Given the description of an element on the screen output the (x, y) to click on. 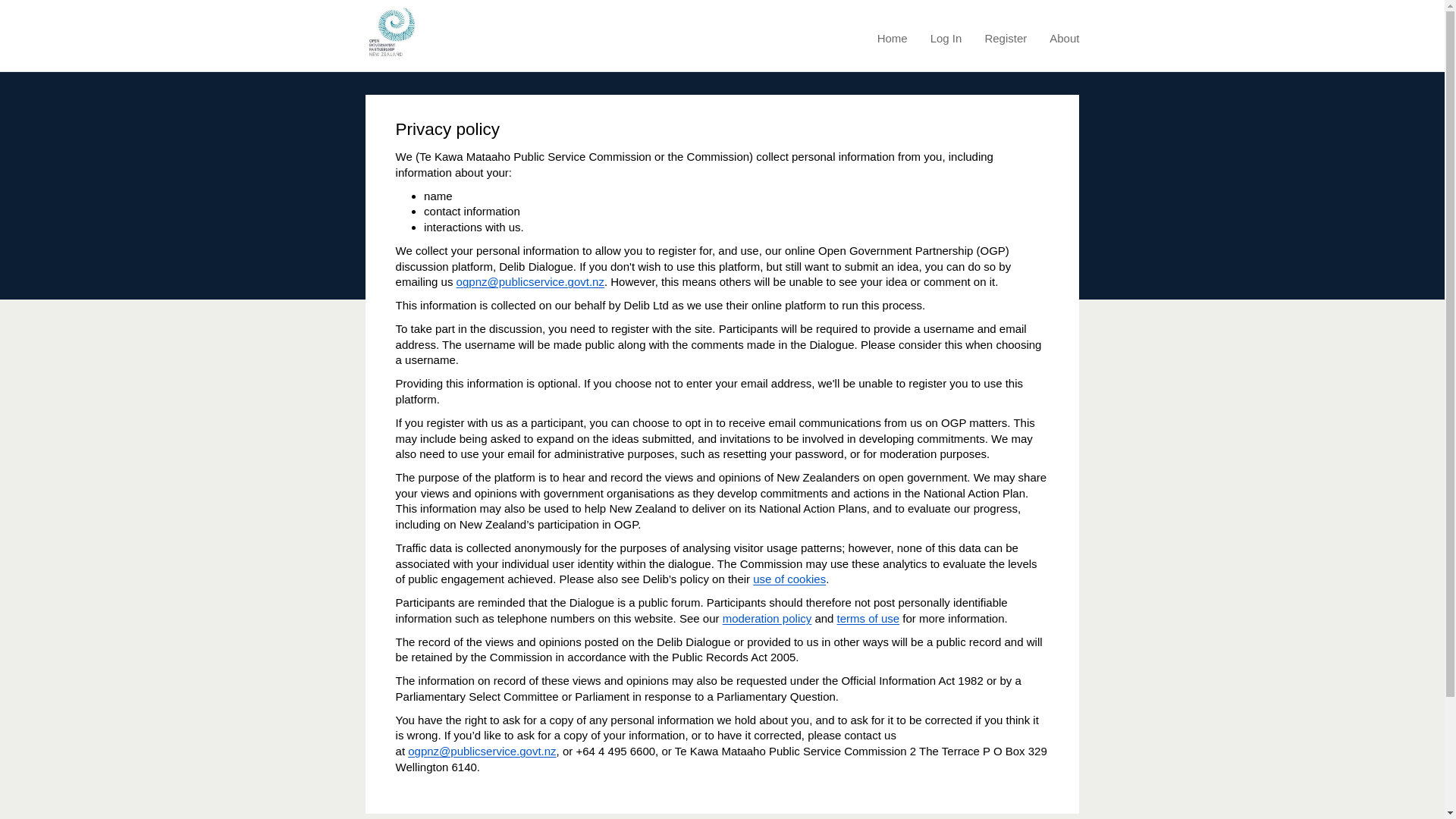
terms of use (868, 617)
Home (892, 38)
About (1064, 38)
Register (1005, 38)
use of cookies (788, 578)
moderation policy (767, 617)
Log In (946, 38)
